Given the description of an element on the screen output the (x, y) to click on. 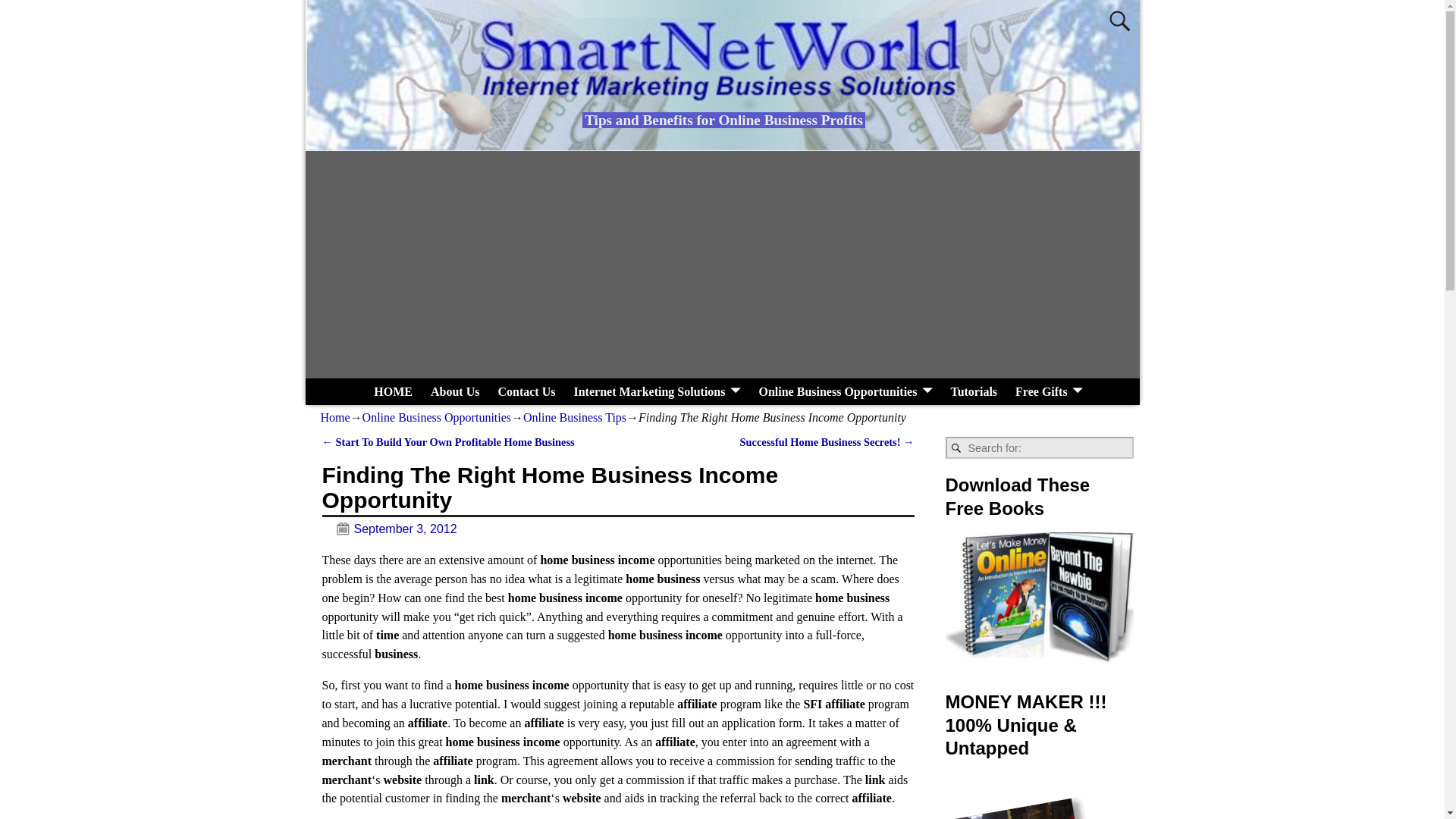
Online Business Opportunities (436, 417)
Contact Us (525, 391)
Home (334, 417)
September 3, 2012 (389, 528)
HOME (393, 391)
1:00 pm (389, 528)
Free Gifts (1049, 391)
Online Business Opportunities (844, 391)
Internet Marketing Solutions (656, 391)
Online Business Tips (574, 417)
About Us (454, 391)
Tutorials (973, 391)
